Given the description of an element on the screen output the (x, y) to click on. 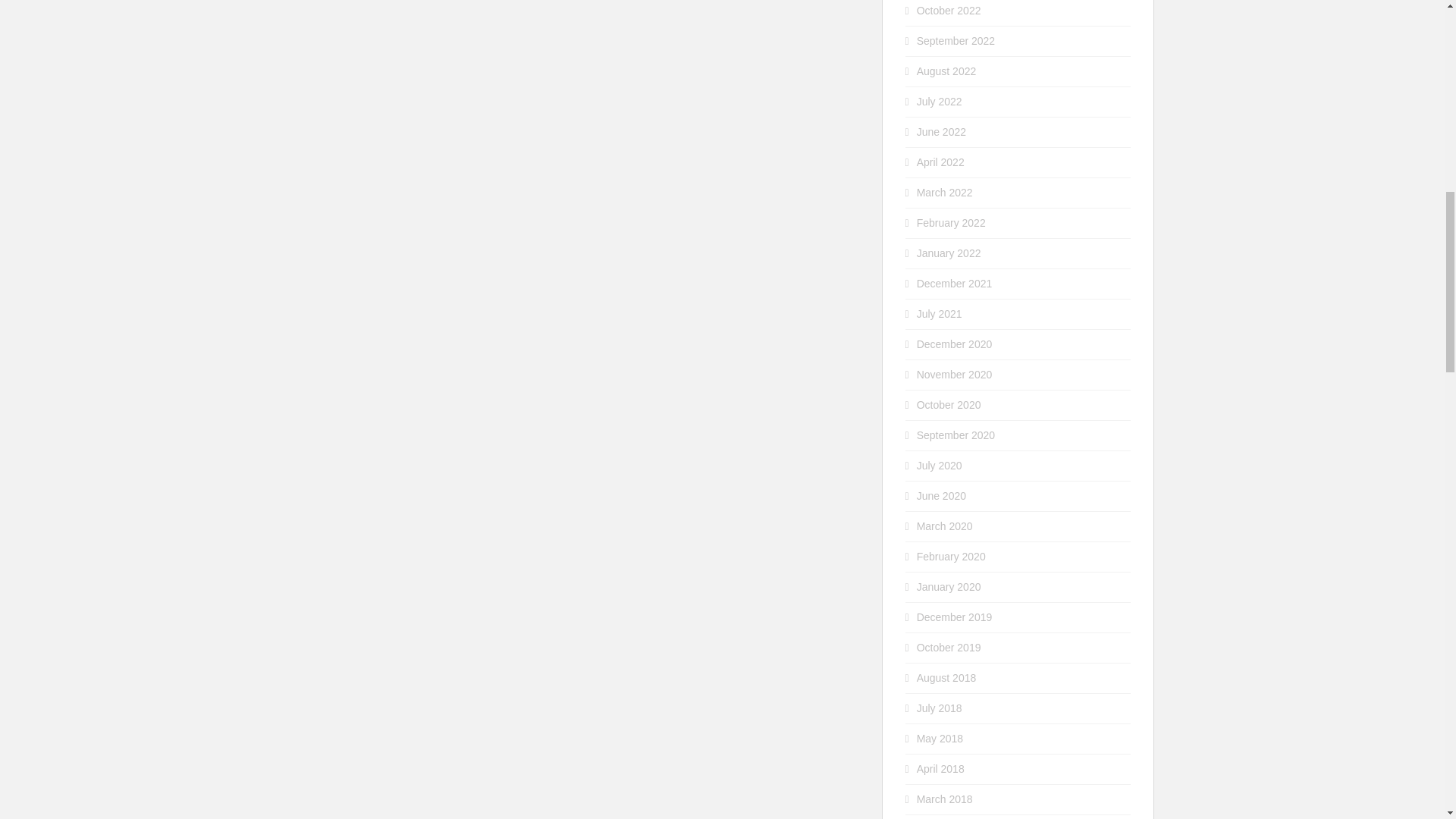
July 2022 (939, 101)
March 2022 (944, 192)
December 2020 (954, 344)
July 2021 (939, 313)
February 2022 (951, 223)
April 2022 (940, 162)
October 2020 (949, 404)
November 2020 (954, 374)
December 2021 (954, 283)
June 2022 (941, 132)
September 2022 (956, 40)
January 2022 (949, 253)
August 2022 (946, 70)
October 2022 (949, 10)
